Given the description of an element on the screen output the (x, y) to click on. 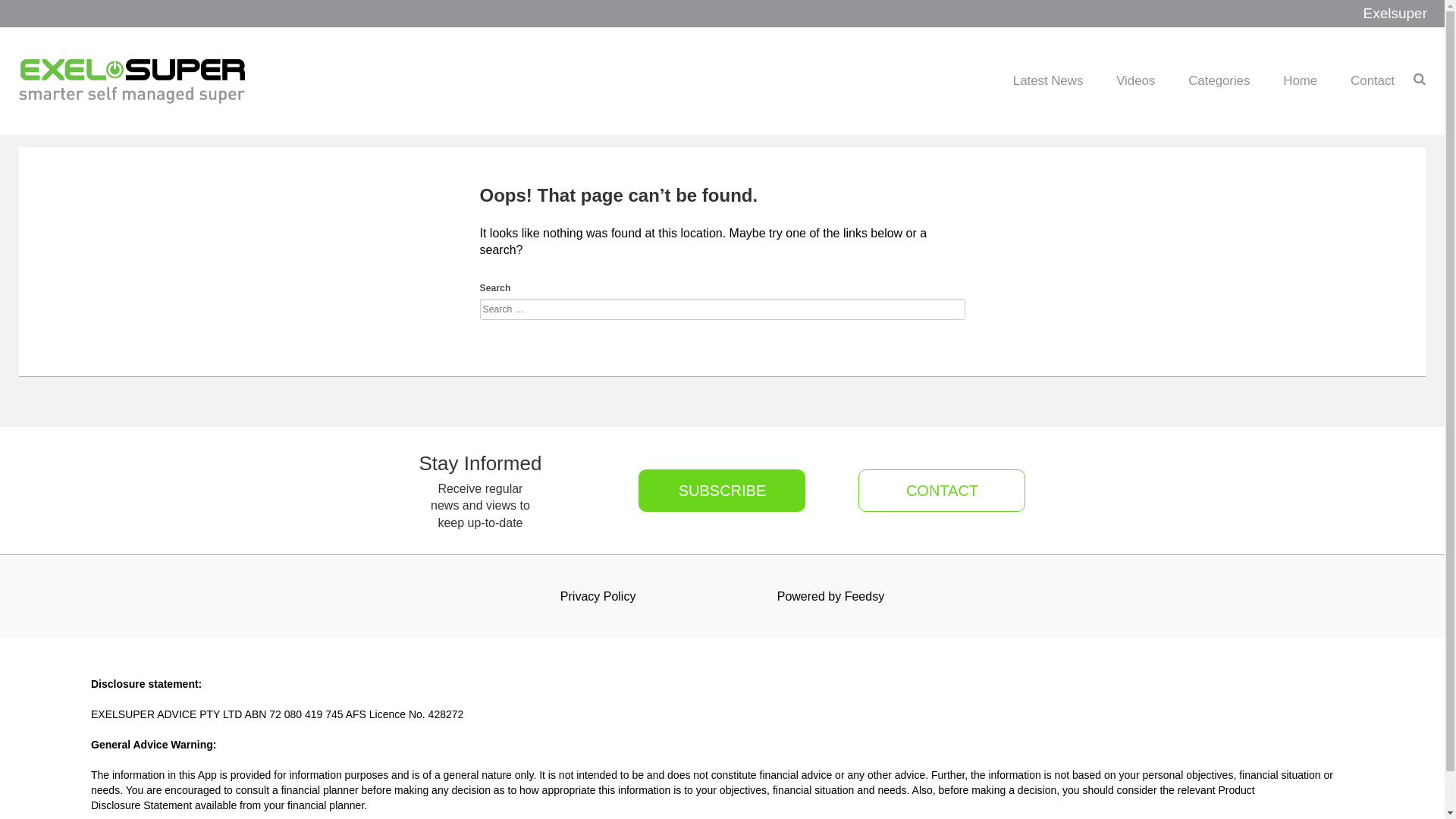
Exel SMSF Element type: hover (132, 80)
Contact Element type: text (1372, 80)
SUBSCRIBE Element type: text (721, 490)
Latest News Element type: text (1047, 80)
CONTACT Element type: text (932, 490)
Privacy Policy Element type: text (598, 596)
Skip to content Element type: text (1393, 65)
Search Element type: text (33, 17)
Home Element type: text (1300, 80)
Categories Element type: text (1218, 80)
Videos Element type: text (1135, 80)
